Given the description of an element on the screen output the (x, y) to click on. 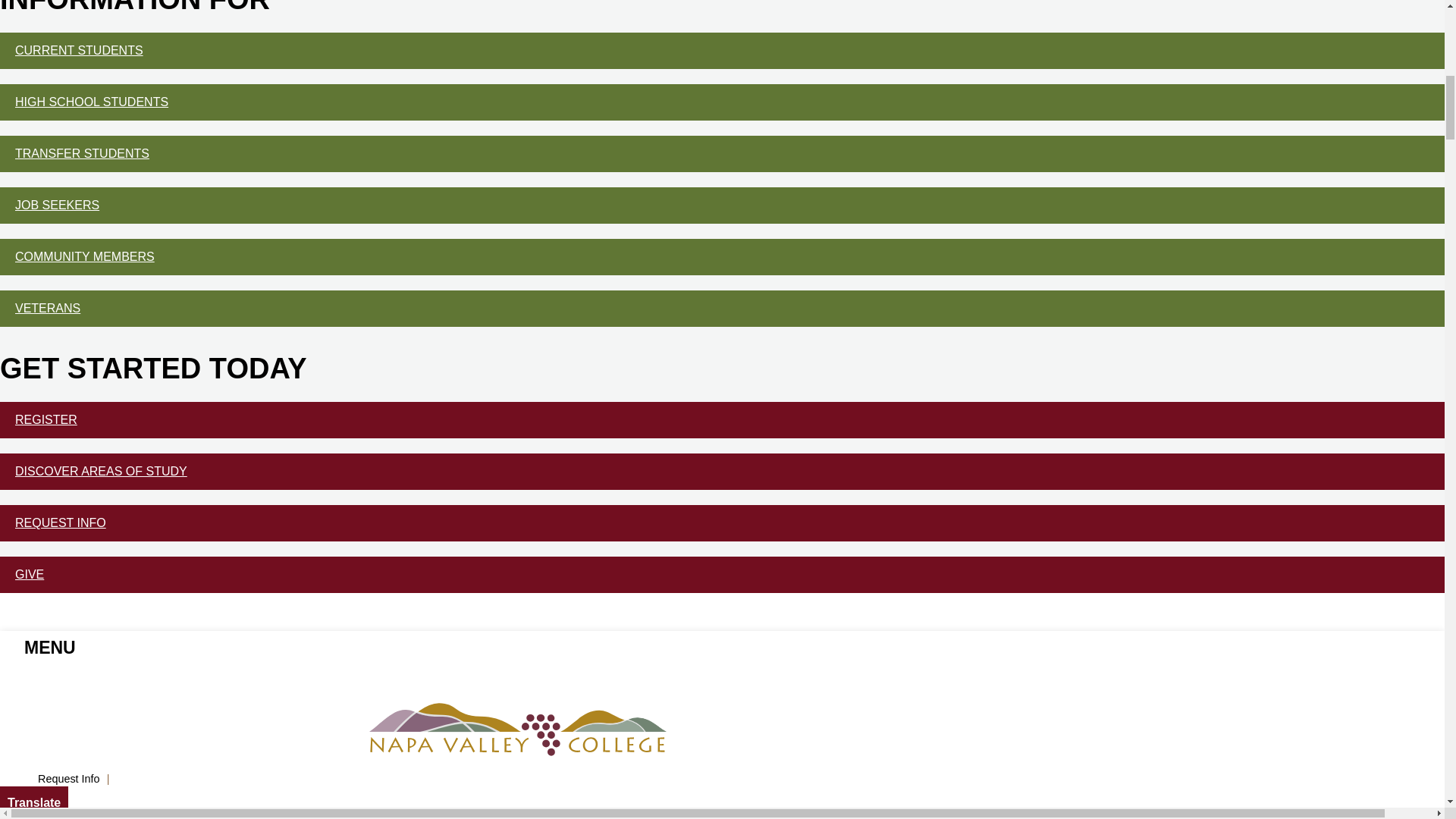
VETERANS (722, 308)
REGISTER (722, 420)
TRANSFER STUDENTS (722, 153)
HIGH SCHOOL STUDENTS (722, 102)
JOB SEEKERS (722, 205)
GIVE (722, 574)
CURRENT STUDENTS (722, 50)
DISCOVER AREAS OF STUDY (722, 471)
COMMUNITY MEMBERS (722, 257)
